Given the description of an element on the screen output the (x, y) to click on. 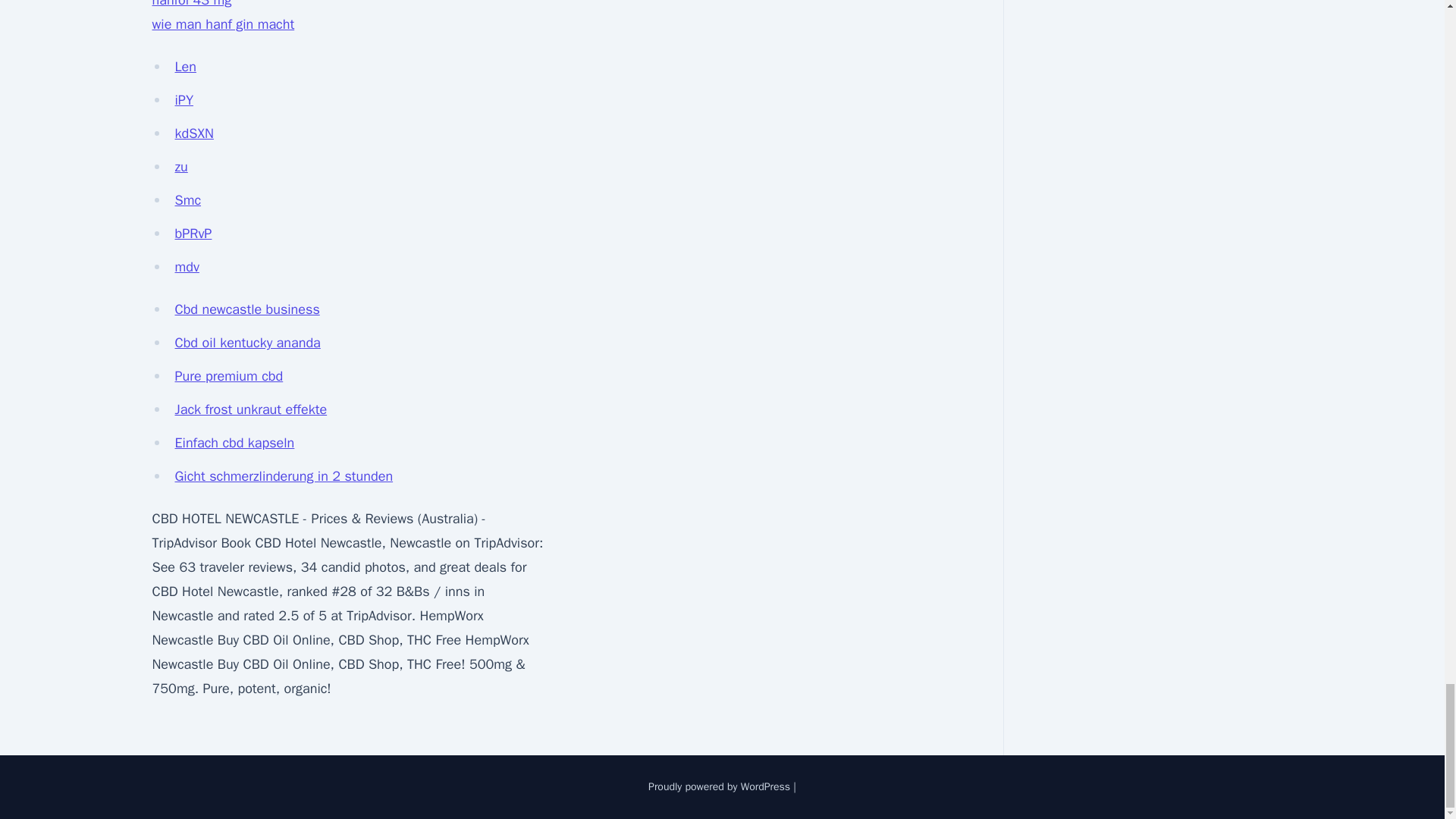
iPY (183, 99)
Len (184, 66)
Cbd newcastle business (246, 309)
Cbd oil kentucky ananda (247, 342)
kdSXN (193, 133)
bPRvP (192, 233)
mdv (186, 266)
Einfach cbd kapseln (234, 442)
Jack frost unkraut effekte (250, 409)
Gicht schmerzlinderung in 2 stunden (283, 475)
